Given the description of an element on the screen output the (x, y) to click on. 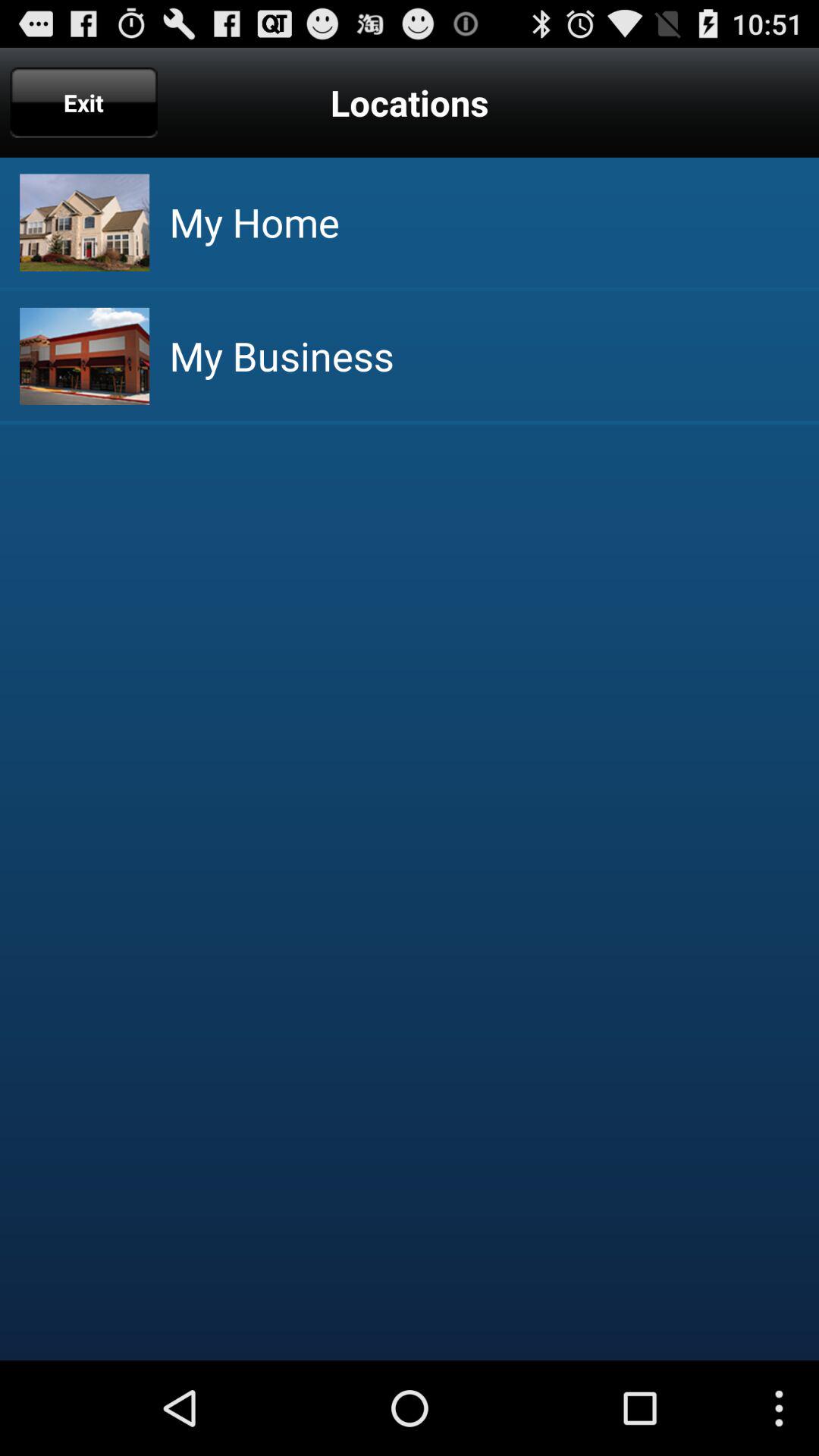
turn off the my home icon (254, 222)
